Given the description of an element on the screen output the (x, y) to click on. 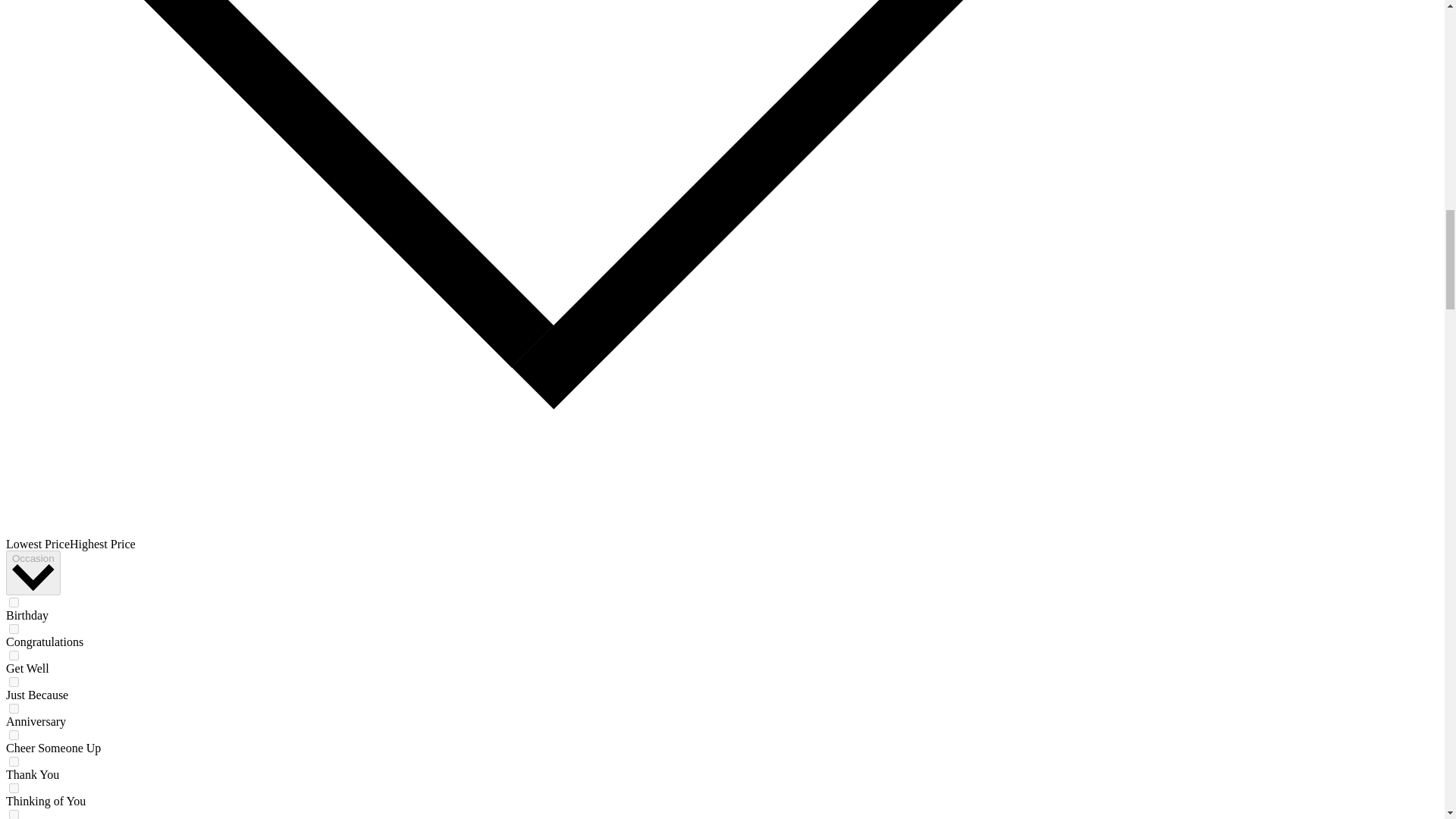
1 (13, 655)
1 (13, 761)
1 (13, 602)
1 (13, 682)
1 (13, 787)
1 (13, 735)
1 (13, 708)
1 (13, 814)
1 (13, 628)
